Given the description of an element on the screen output the (x, y) to click on. 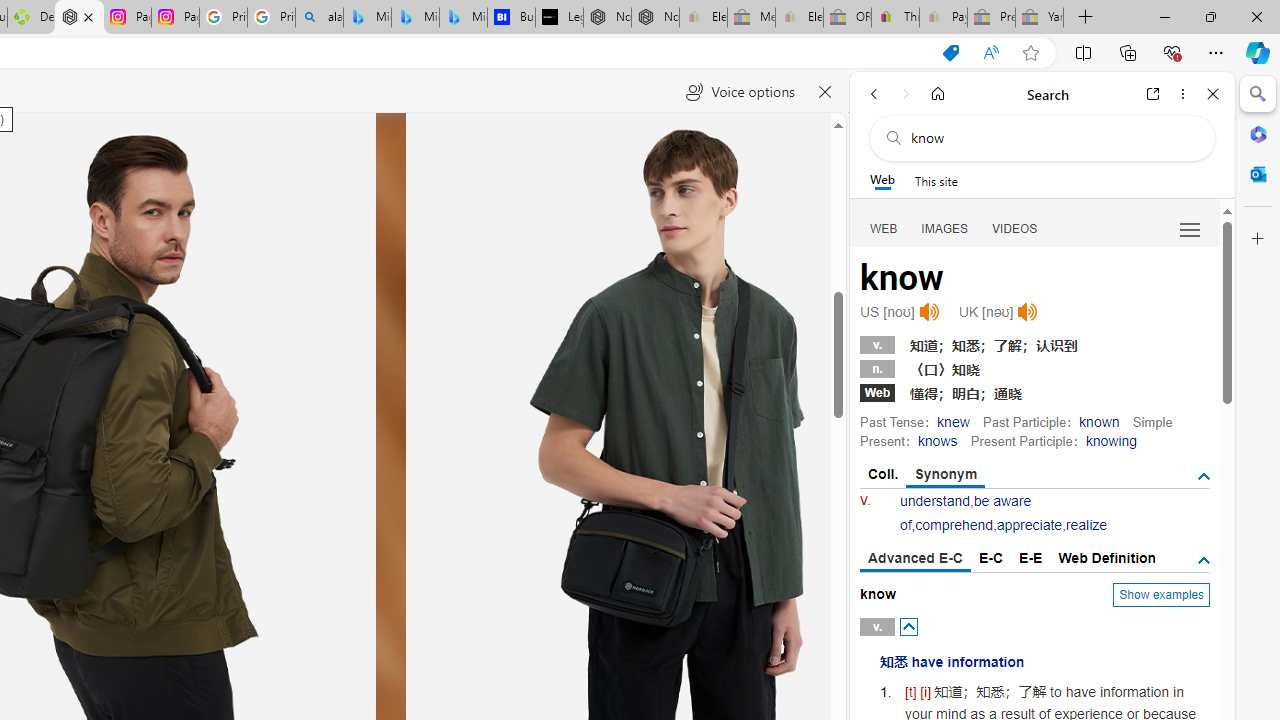
AutomationID: posbtn_0 (908, 626)
Forward (906, 93)
Outlook (1258, 174)
Click to listen (1027, 312)
Advanced E-C (915, 559)
WEB (884, 228)
Class: b_serphb (1190, 229)
